Given the description of an element on the screen output the (x, y) to click on. 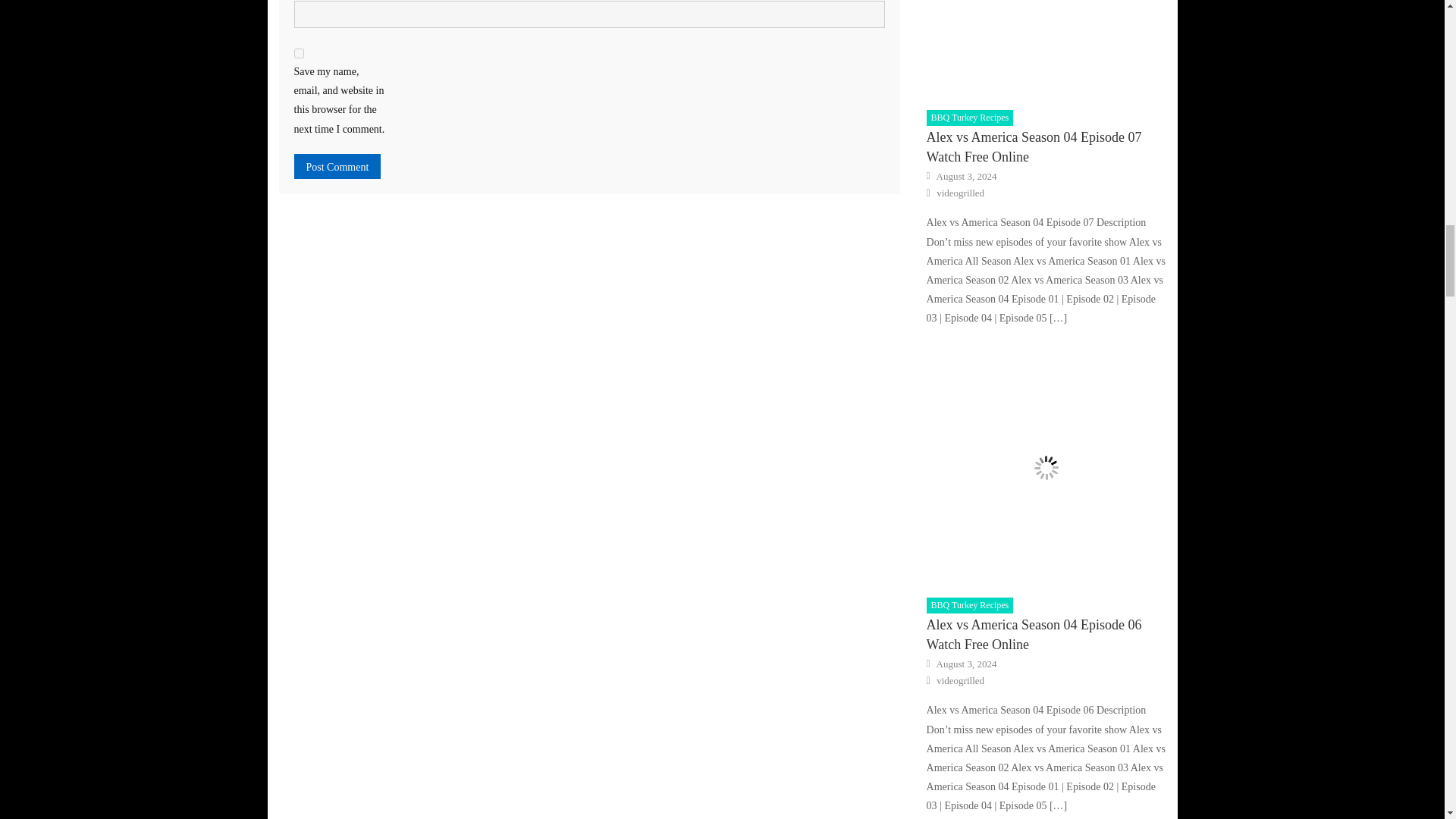
yes (299, 53)
Alex vs America Season 04 Episode 06 Watch Free Online (1046, 468)
Alex vs America Season 04 Episode 07 Watch Free Online (1046, 49)
Post Comment (337, 166)
